Given the description of an element on the screen output the (x, y) to click on. 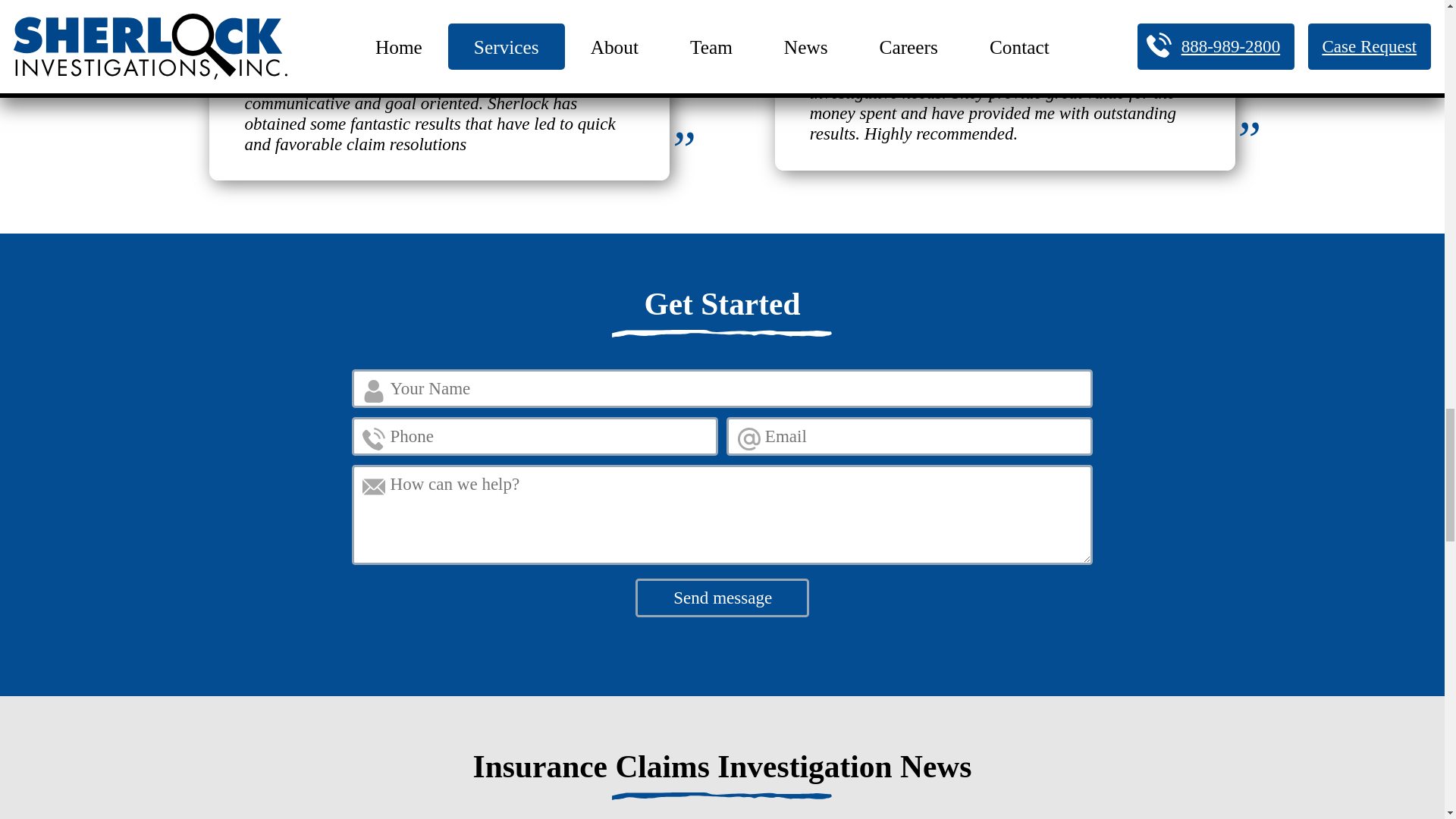
James Buffa (839, 4)
Send message (721, 597)
